Given the description of an element on the screen output the (x, y) to click on. 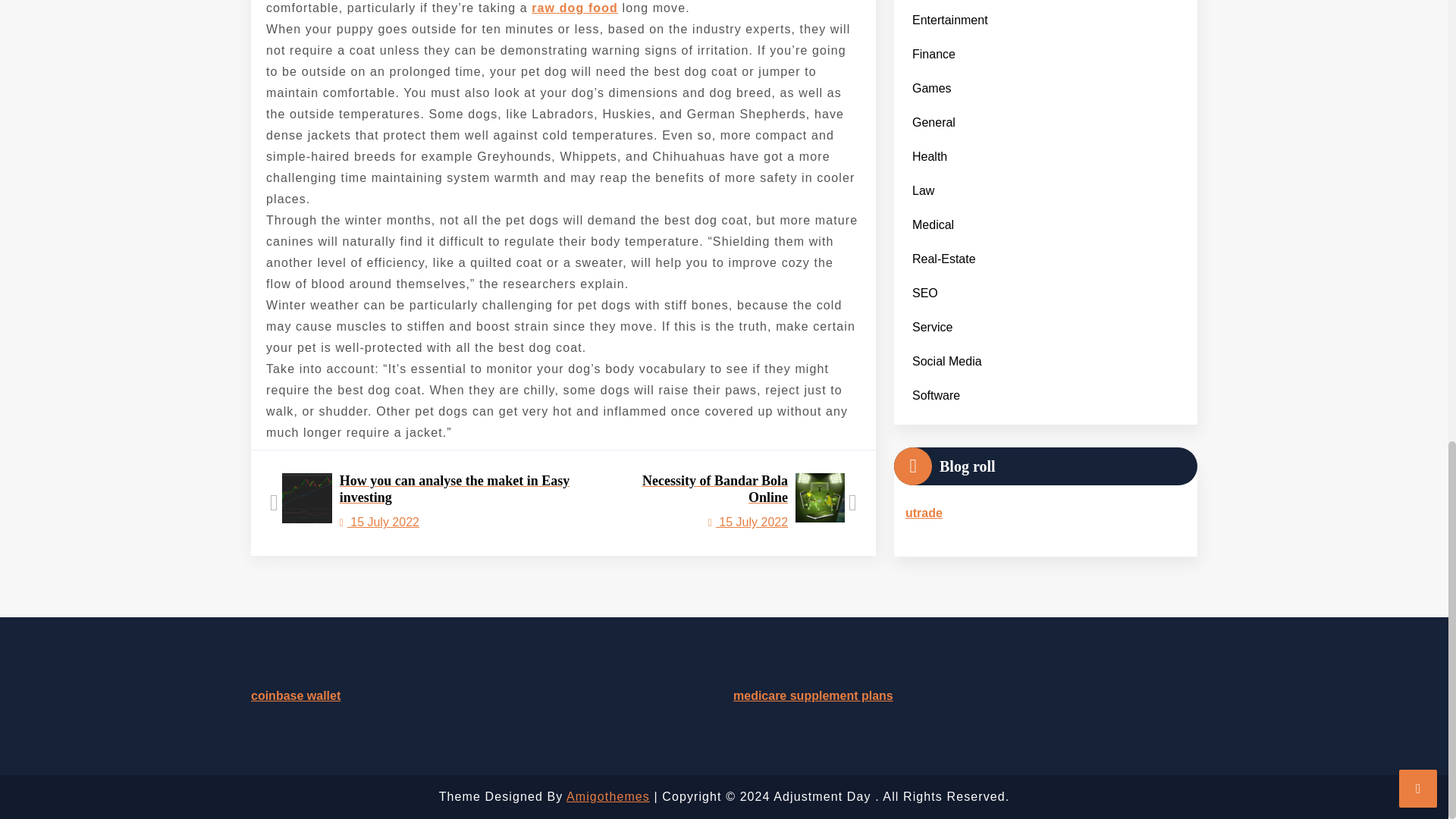
raw dog food (574, 7)
Games (732, 503)
